Given the description of an element on the screen output the (x, y) to click on. 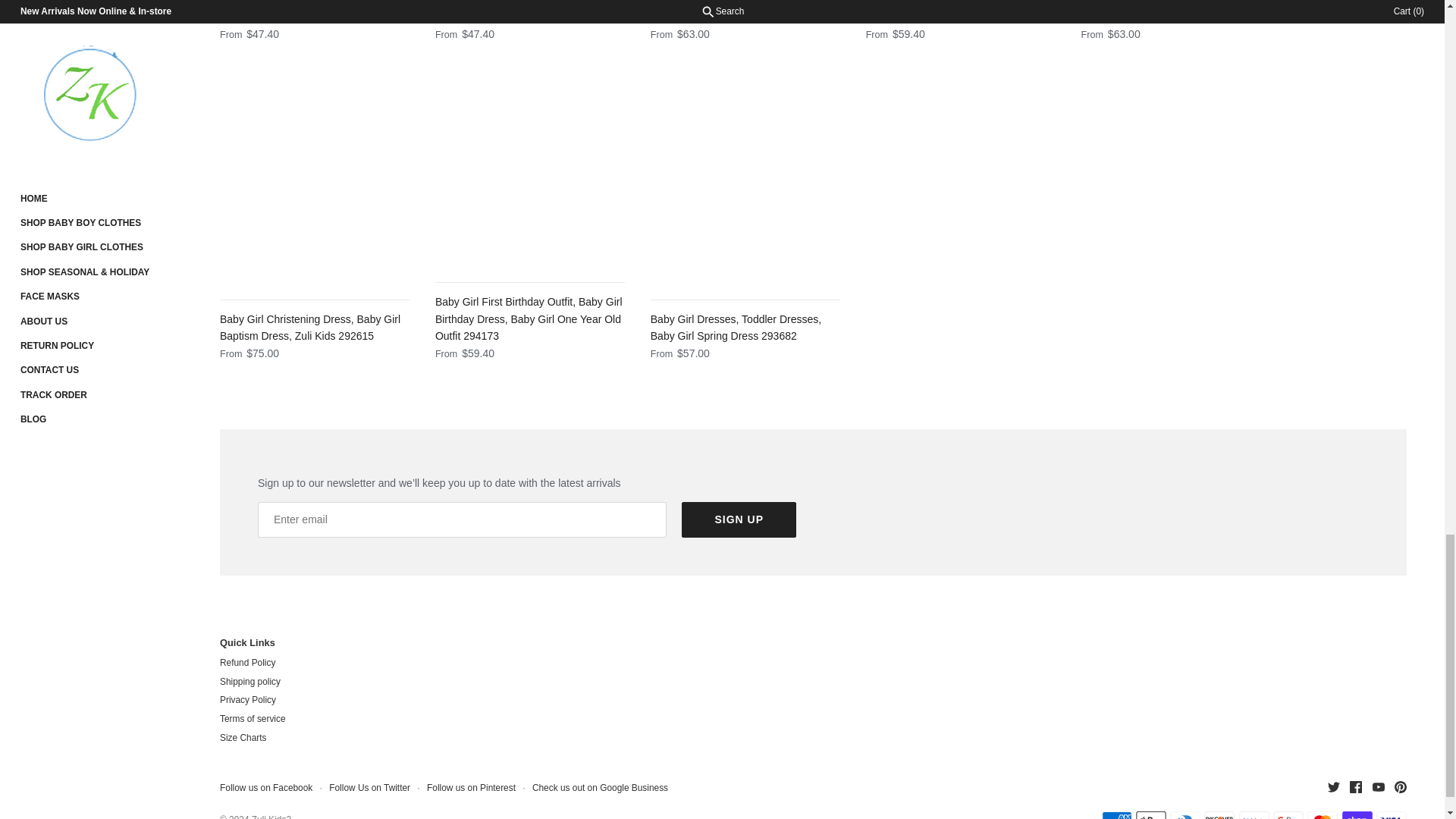
Visa (1390, 815)
Facebook (1355, 787)
Youtube (1378, 787)
Meta Pay (1254, 815)
Twitter (1333, 787)
Discover (1219, 815)
Apple Pay (1150, 815)
Diners Club (1184, 815)
Pinterest (1400, 787)
Shop Pay (1357, 815)
Mastercard (1322, 815)
American Express (1115, 815)
